Given the description of an element on the screen output the (x, y) to click on. 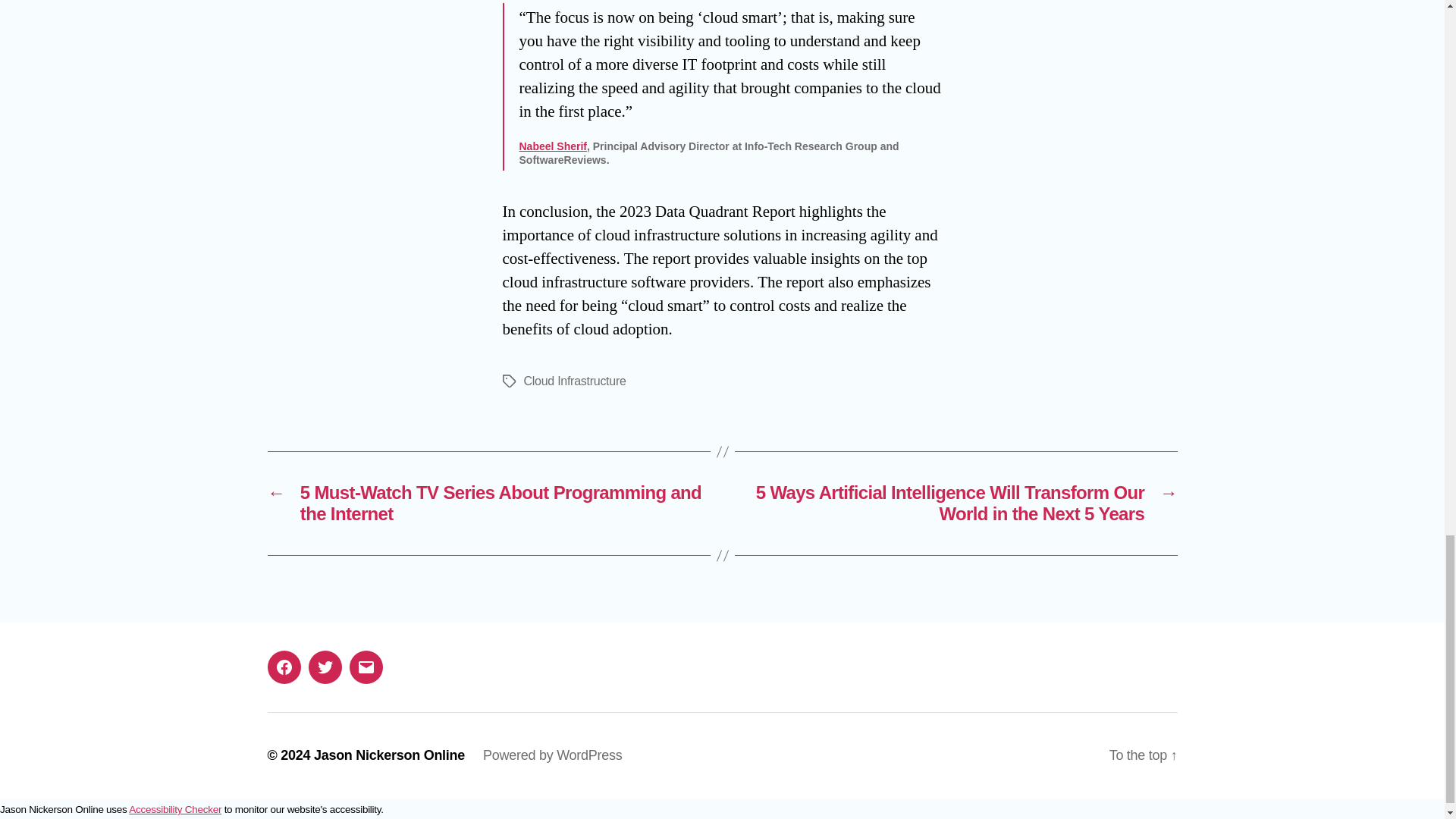
Cloud Infrastructure (574, 380)
Nabeel Sherif (552, 146)
